Given the description of an element on the screen output the (x, y) to click on. 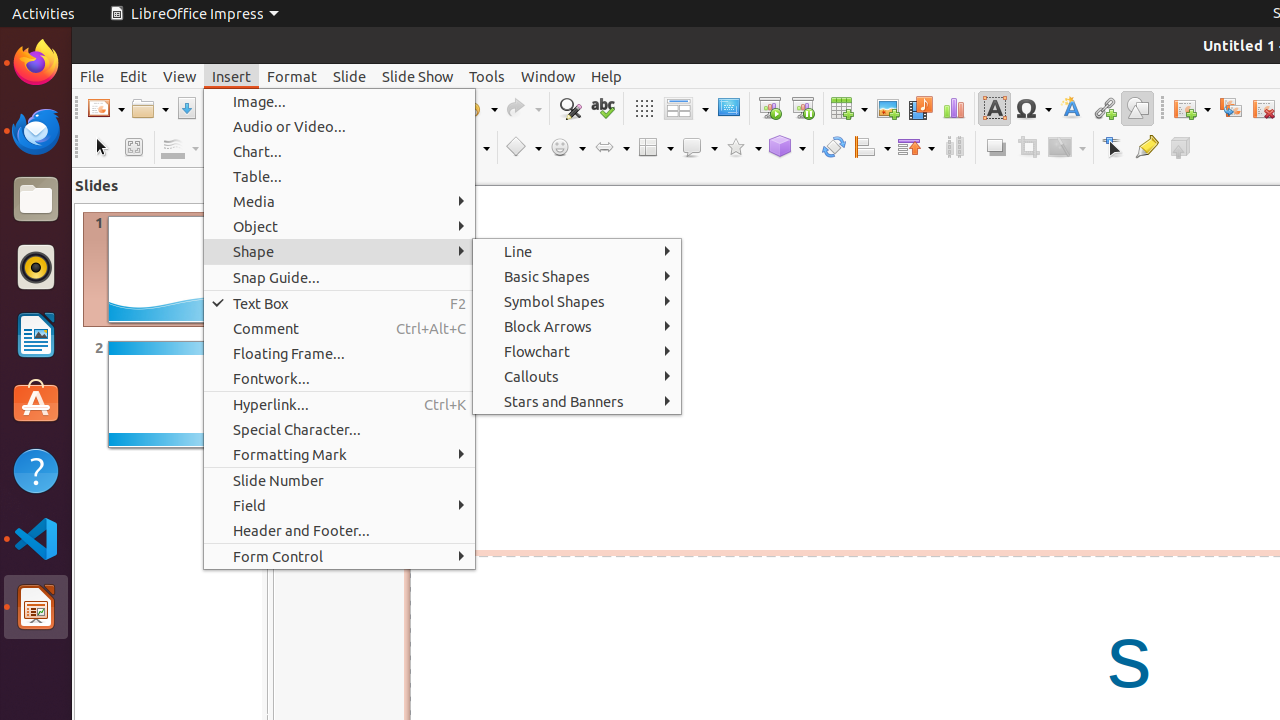
Zoom & Pan Element type: push-button (133, 147)
Thunderbird Mail Element type: push-button (36, 131)
Basic Shapes Element type: menu (577, 276)
View Element type: menu (179, 76)
Fontwork... Element type: menu-item (339, 378)
